Given the description of an element on the screen output the (x, y) to click on. 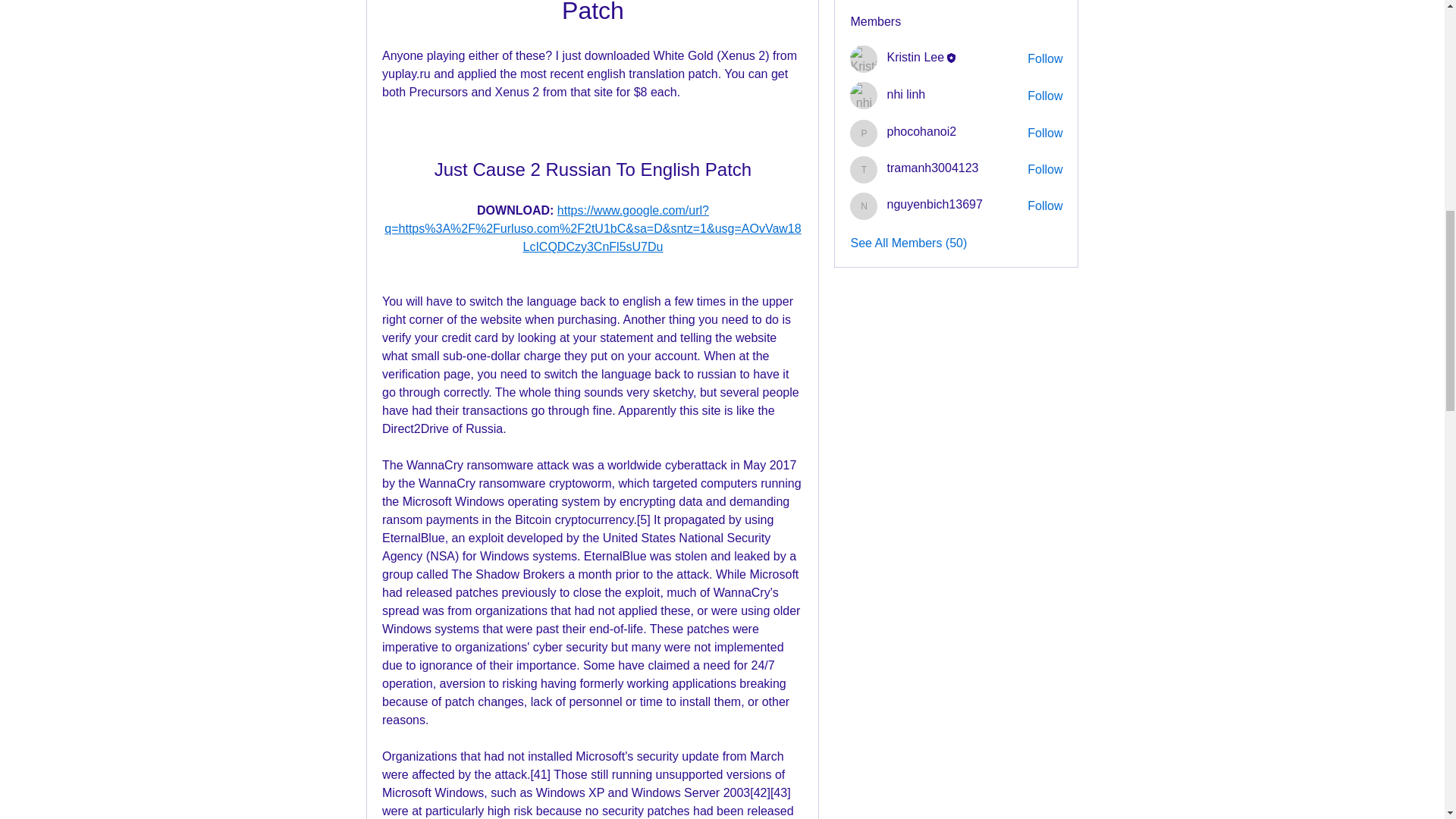
tramanh3004123 (932, 167)
Kristin Lee (863, 58)
Follow (1044, 95)
Follow (1044, 169)
nhi linh (863, 94)
tramanh3004123 (932, 167)
nguyenbich13697 (933, 204)
Kristin Lee (914, 57)
phocohanoi2 (863, 133)
Follow (1044, 133)
